Given the description of an element on the screen output the (x, y) to click on. 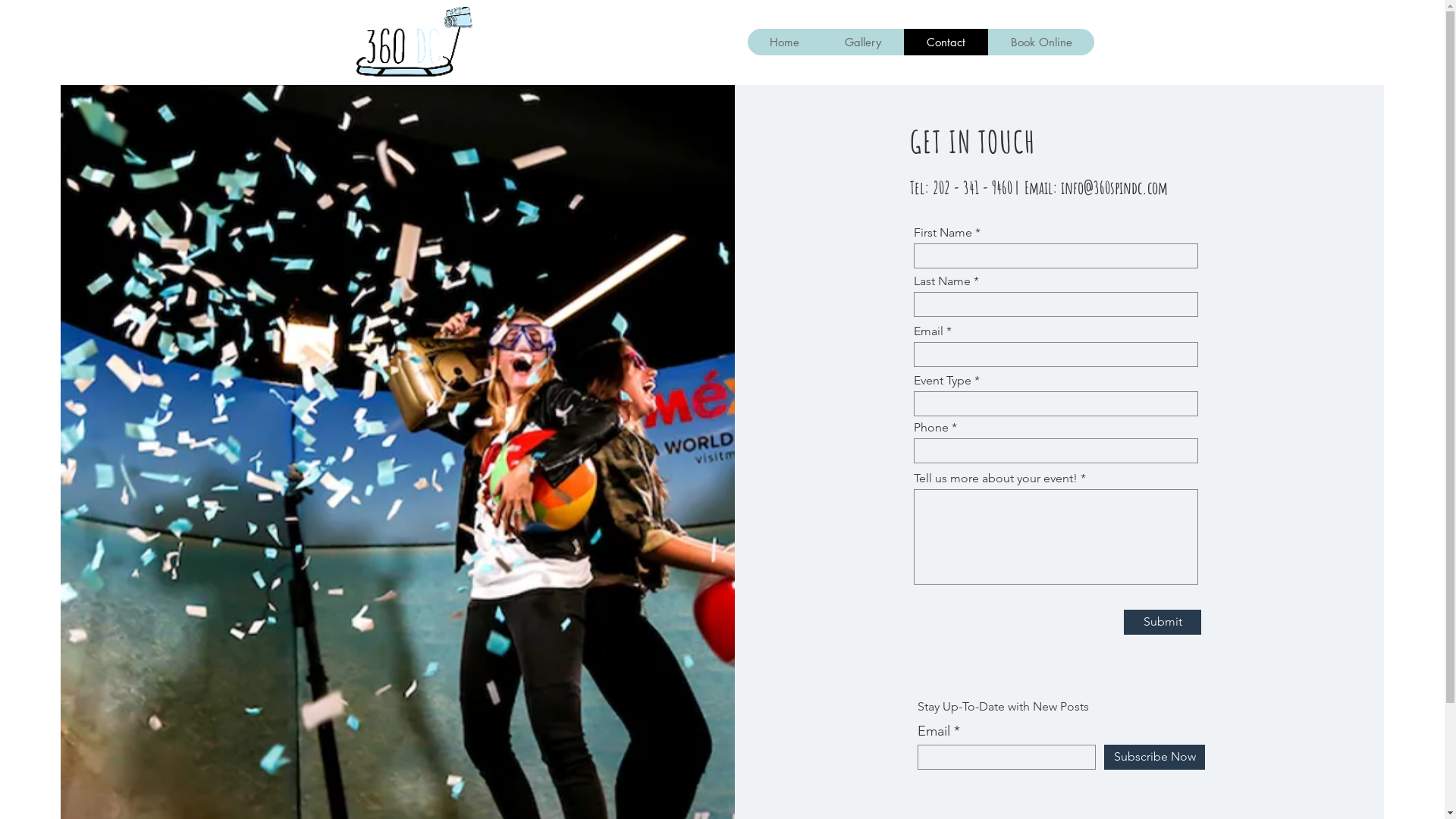
360 DC logo Element type: hover (410, 41)
Home Element type: text (784, 41)
Gallery Element type: text (862, 41)
Subscribe Now Element type: text (1154, 756)
Submit Element type: text (1162, 621)
info@360spindc.com Element type: text (1113, 187)
Contact Element type: text (945, 41)
Book Online Element type: text (1040, 41)
